Given the description of an element on the screen output the (x, y) to click on. 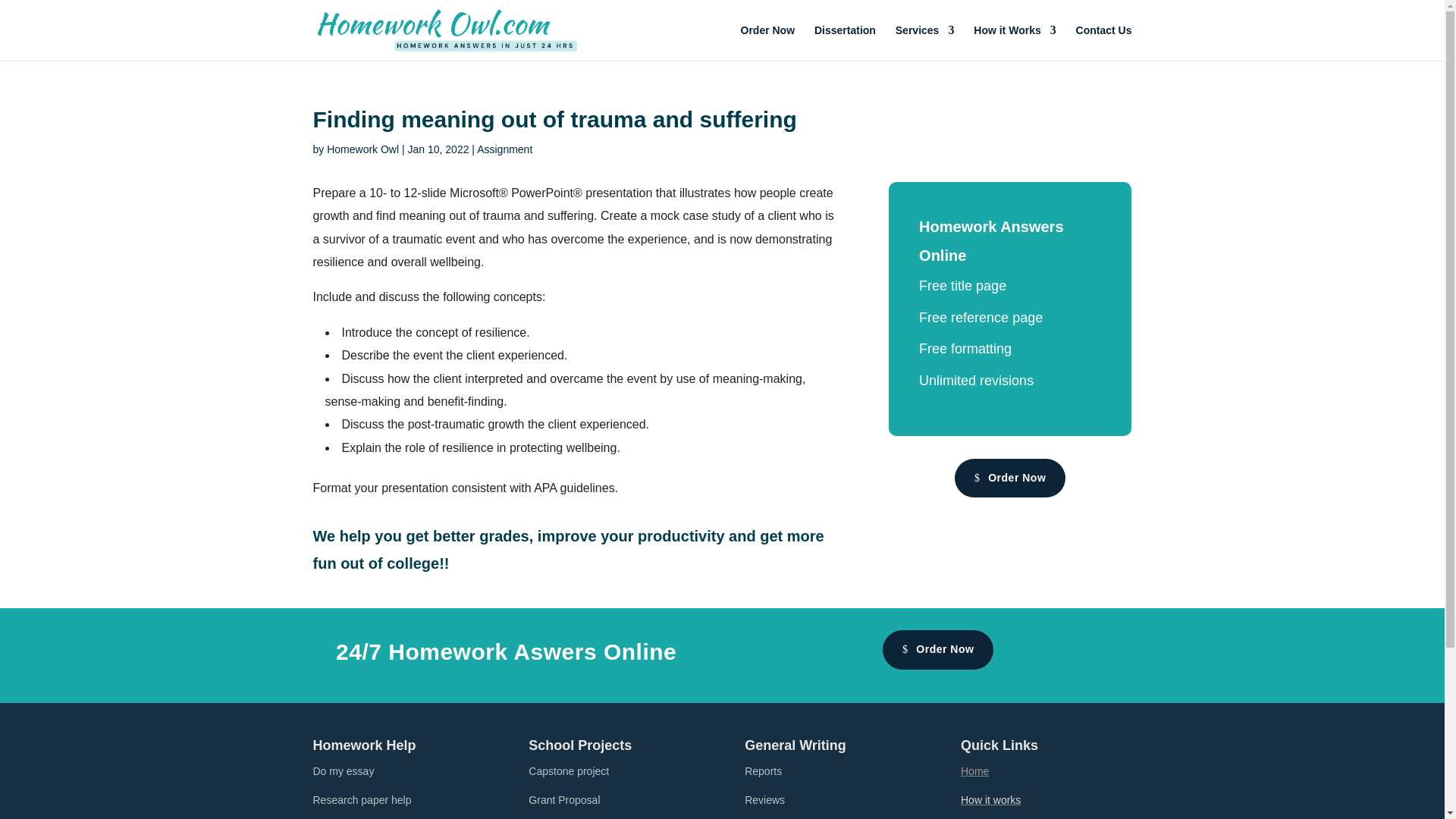
Home (974, 770)
Services (925, 42)
Contact Us (1103, 42)
Dissertation (844, 42)
How it Works (1014, 42)
Order Now (766, 42)
Posts by Homework Owl (362, 149)
